Given the description of an element on the screen output the (x, y) to click on. 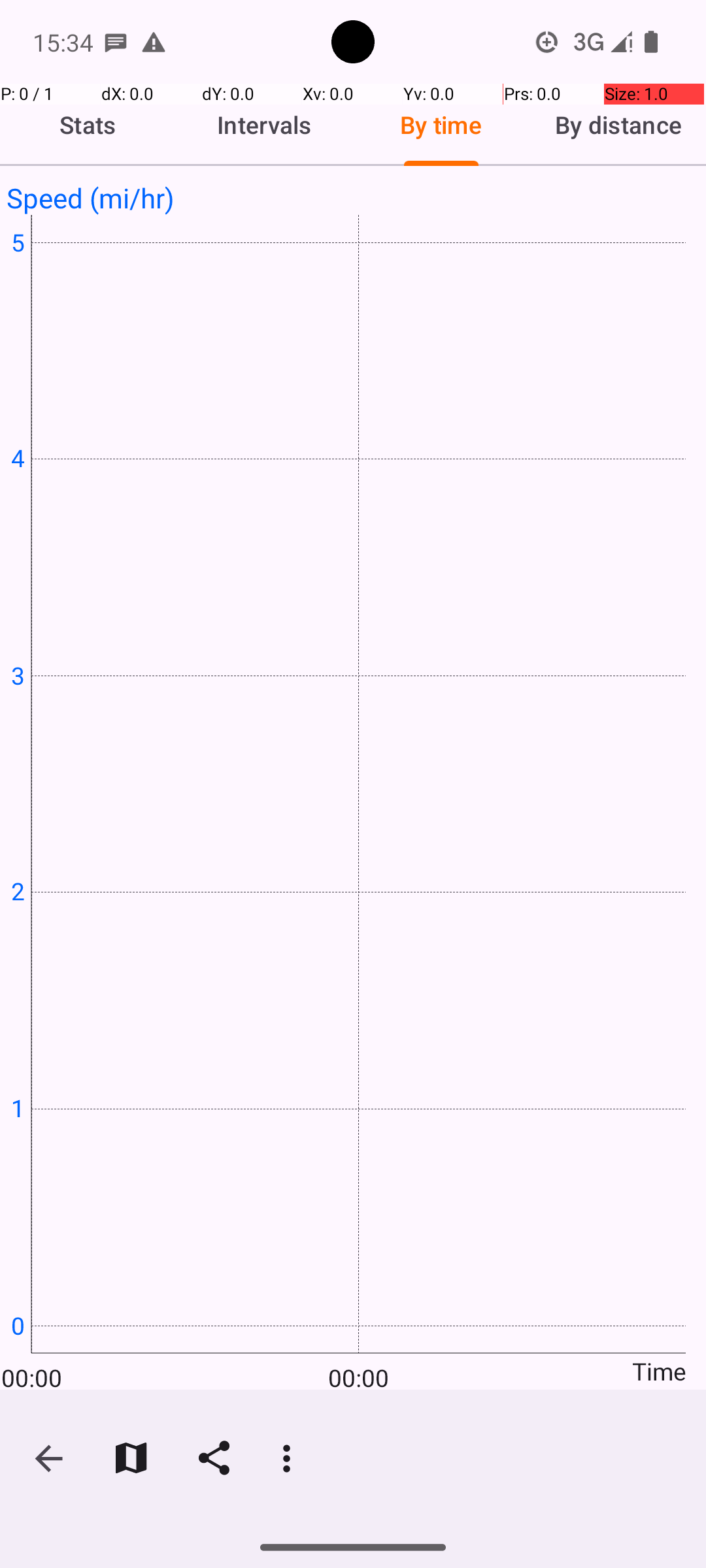
Stats Element type: android.widget.LinearLayout (88, 124)
Intervals Element type: android.widget.LinearLayout (264, 124)
By time Element type: android.widget.LinearLayout (441, 124)
By distance Element type: android.widget.LinearLayout (617, 124)
Show on map Element type: android.widget.Button (130, 1458)
